Given the description of an element on the screen output the (x, y) to click on. 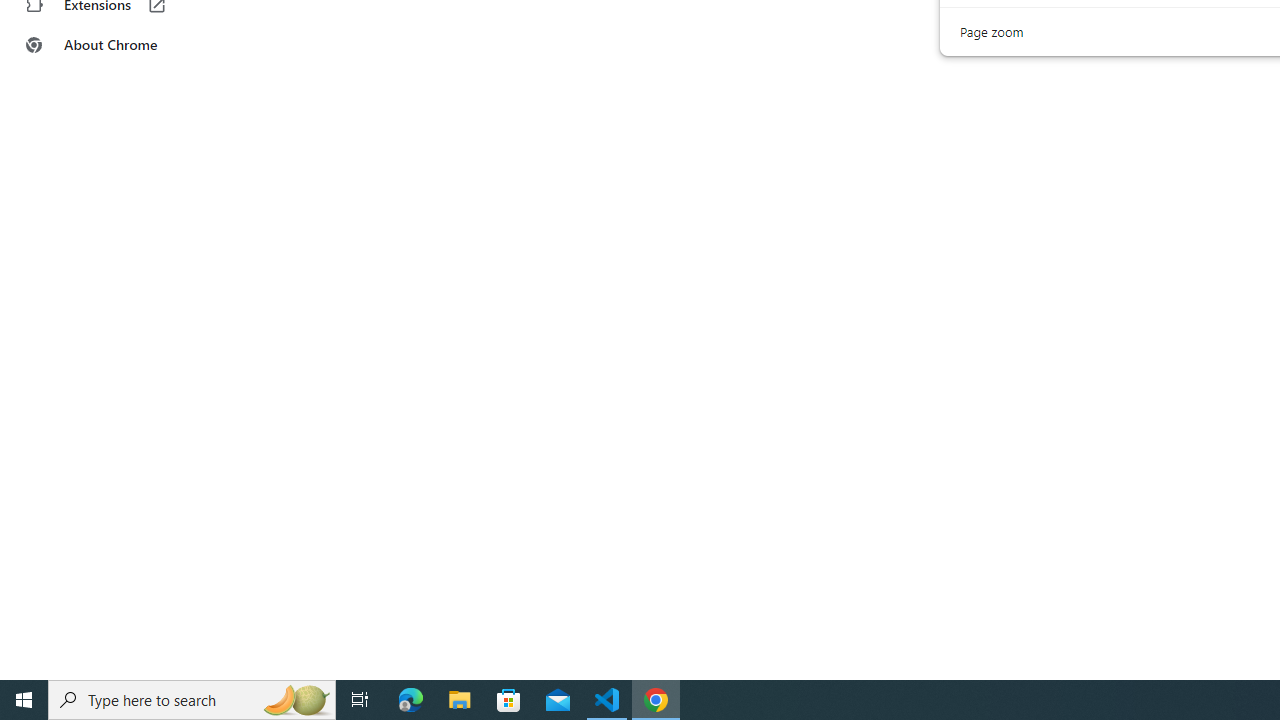
About Chrome (124, 44)
